Given the description of an element on the screen output the (x, y) to click on. 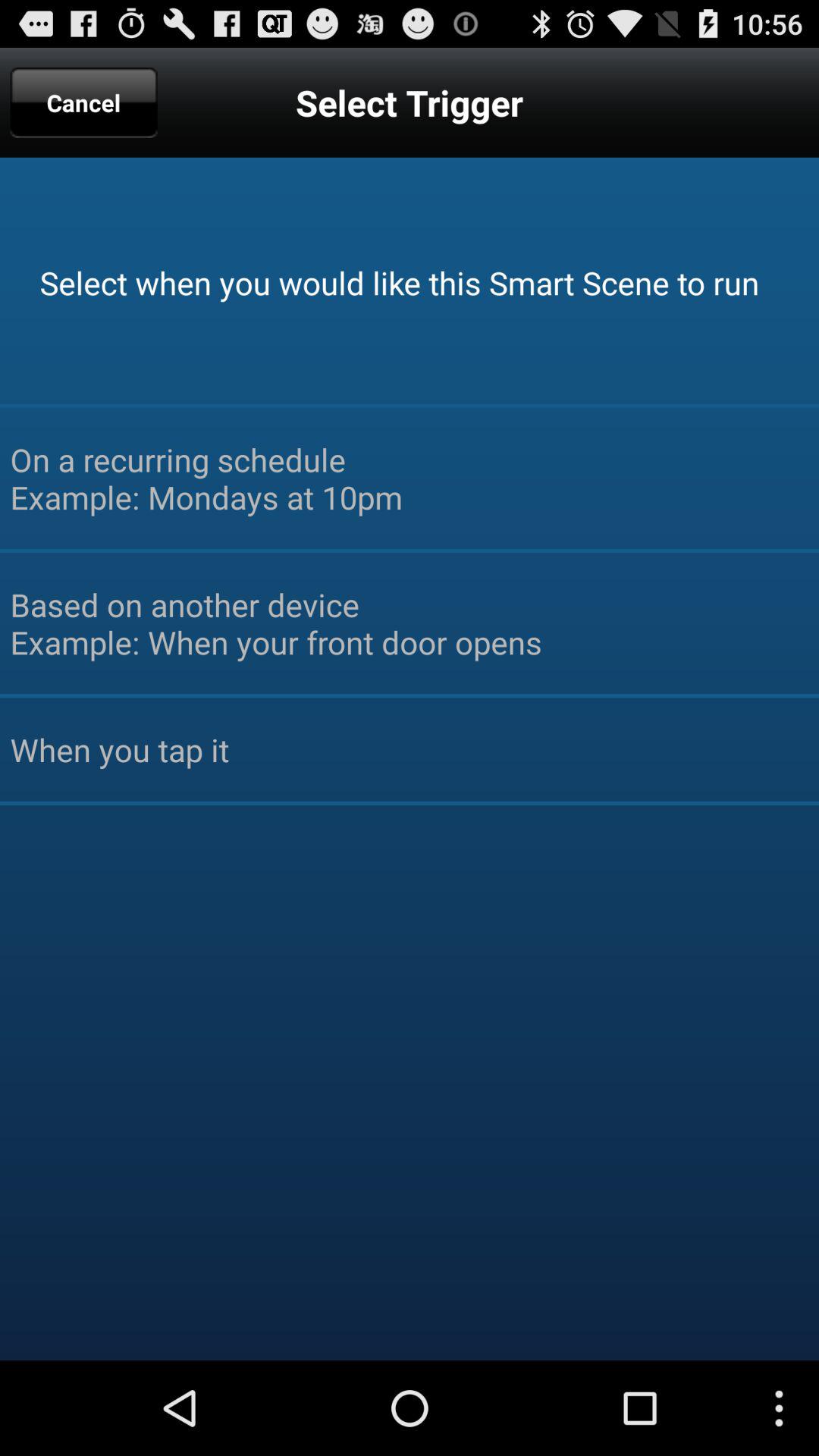
turn off item to the left of the select trigger item (83, 102)
